Given the description of an element on the screen output the (x, y) to click on. 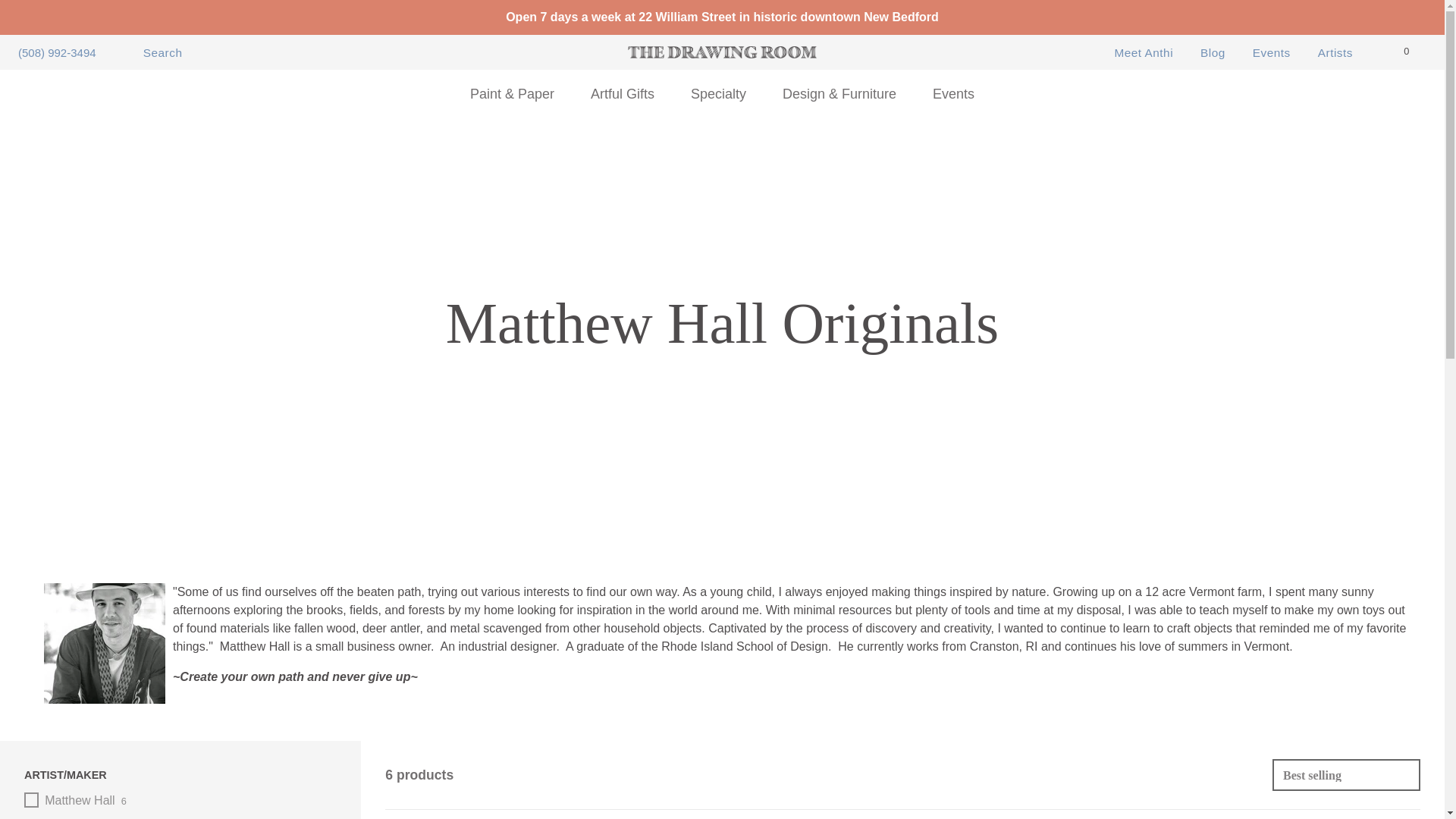
Artists (1334, 52)
Events (1271, 52)
Blog (1212, 52)
0 (1414, 51)
Artful Gifts (622, 93)
Search (152, 52)
Meet Anthi (1143, 52)
